Given the description of an element on the screen output the (x, y) to click on. 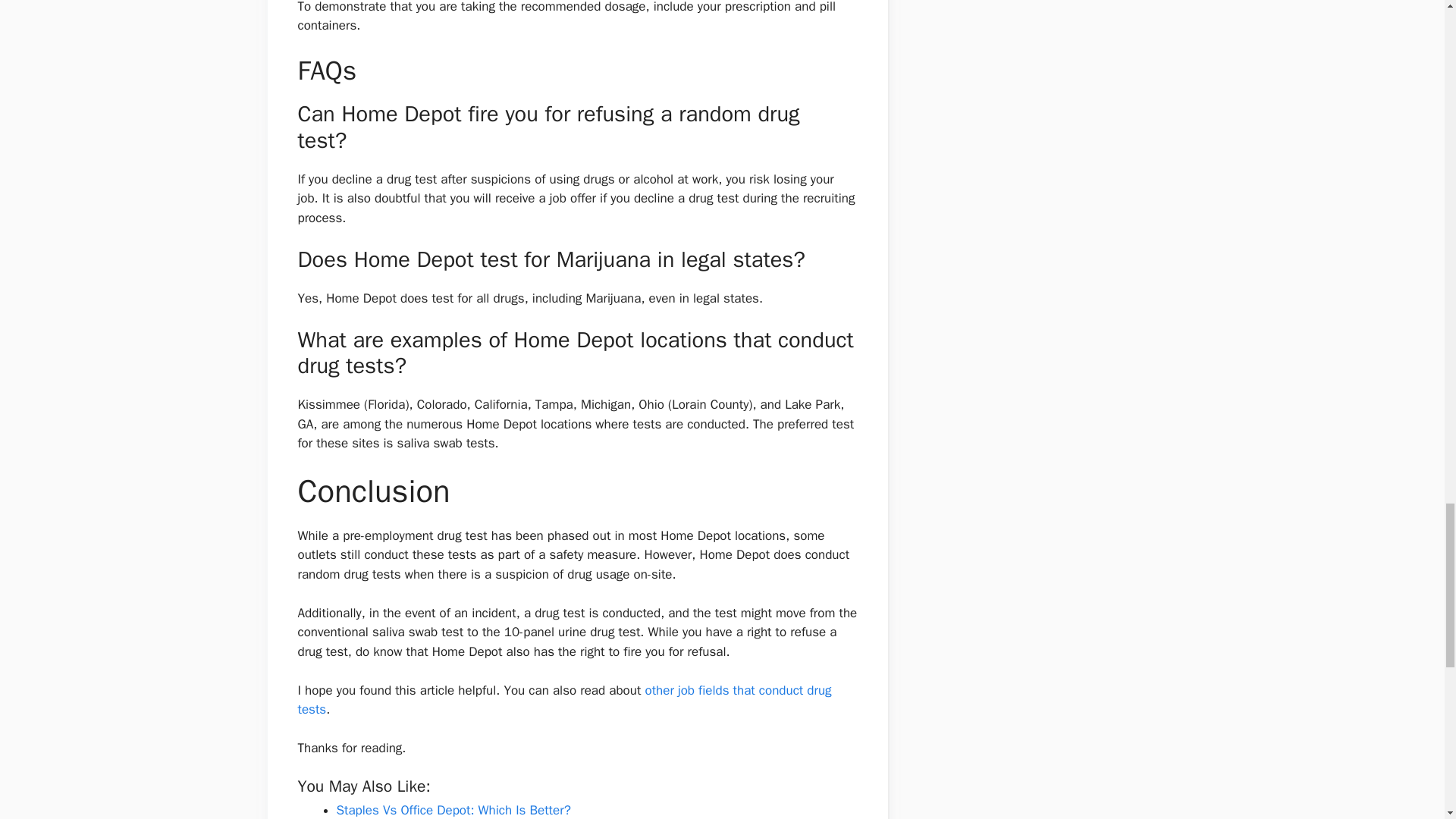
Staples Vs Office Depot: Which Is Better? (453, 810)
other job fields that conduct drug tests (564, 700)
Staples Vs Office Depot: Which Is Better? (453, 810)
